Given the description of an element on the screen output the (x, y) to click on. 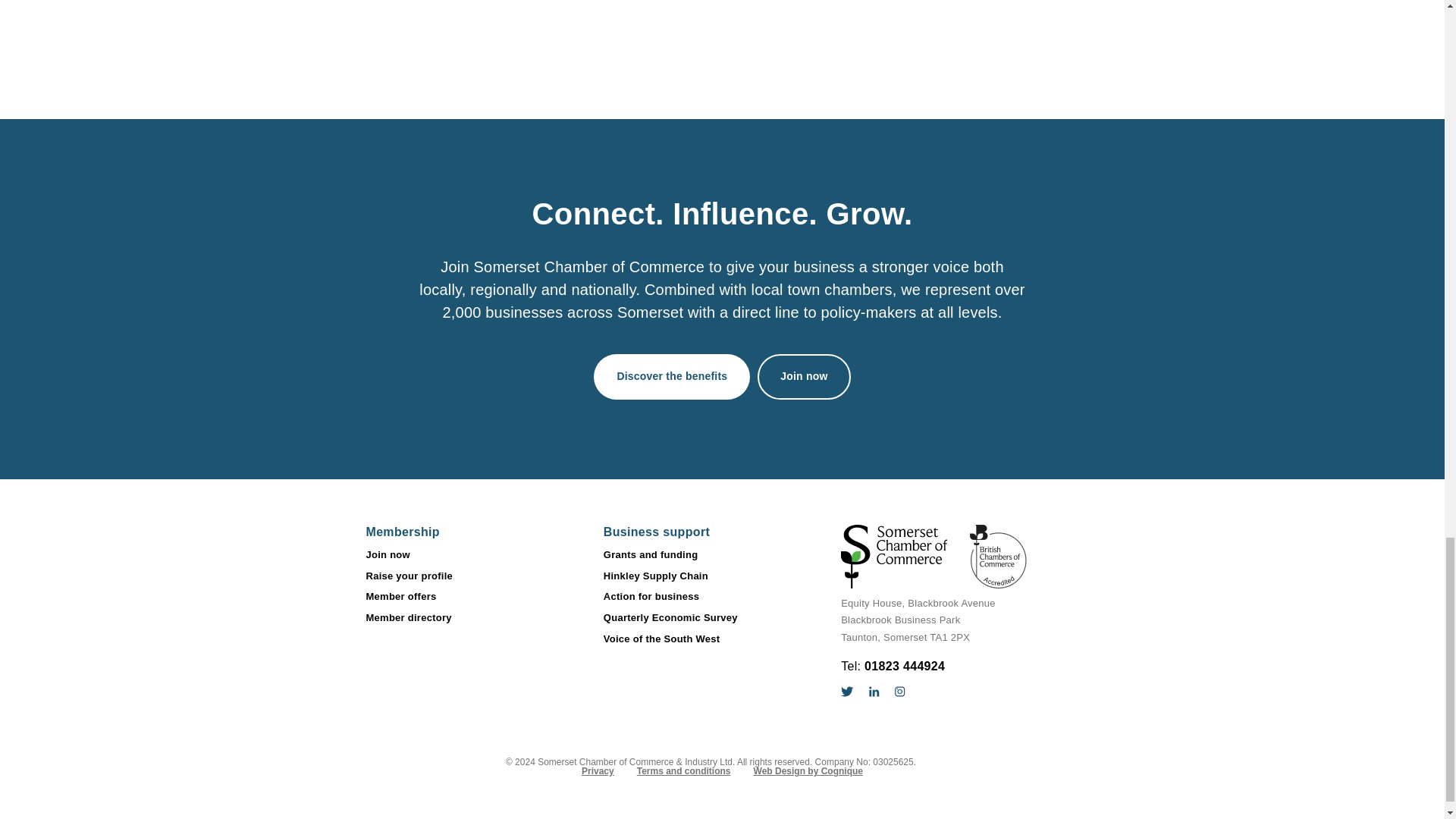
Somerset Chamber (933, 556)
